Given the description of an element on the screen output the (x, y) to click on. 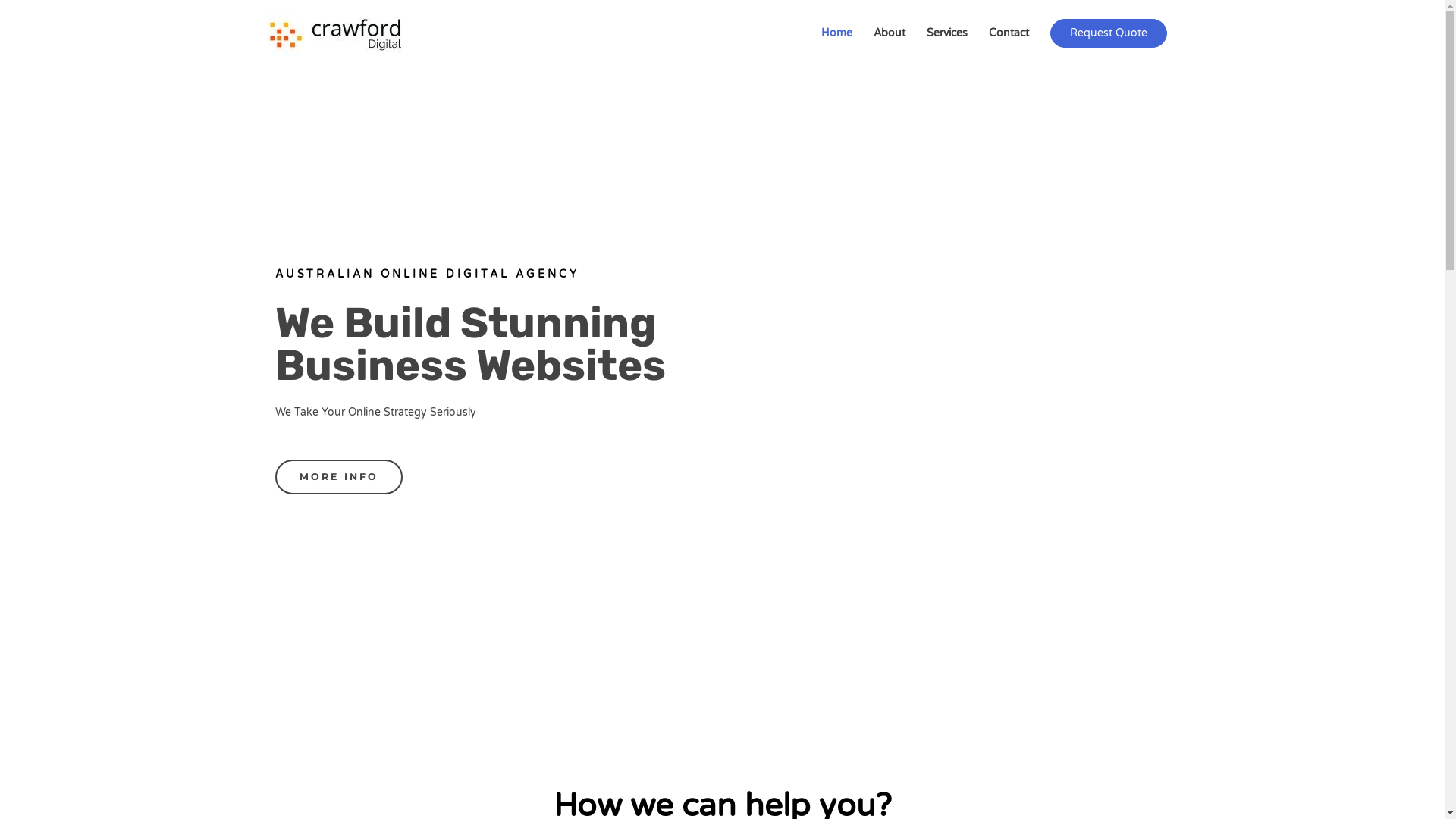
About Element type: text (889, 33)
Services Element type: text (947, 33)
MORE INFO Element type: text (337, 477)
Request Quote Element type: text (1107, 33)
Contact Element type: text (1008, 33)
Request Quote Element type: text (1107, 32)
Home Element type: text (835, 33)
